Given the description of an element on the screen output the (x, y) to click on. 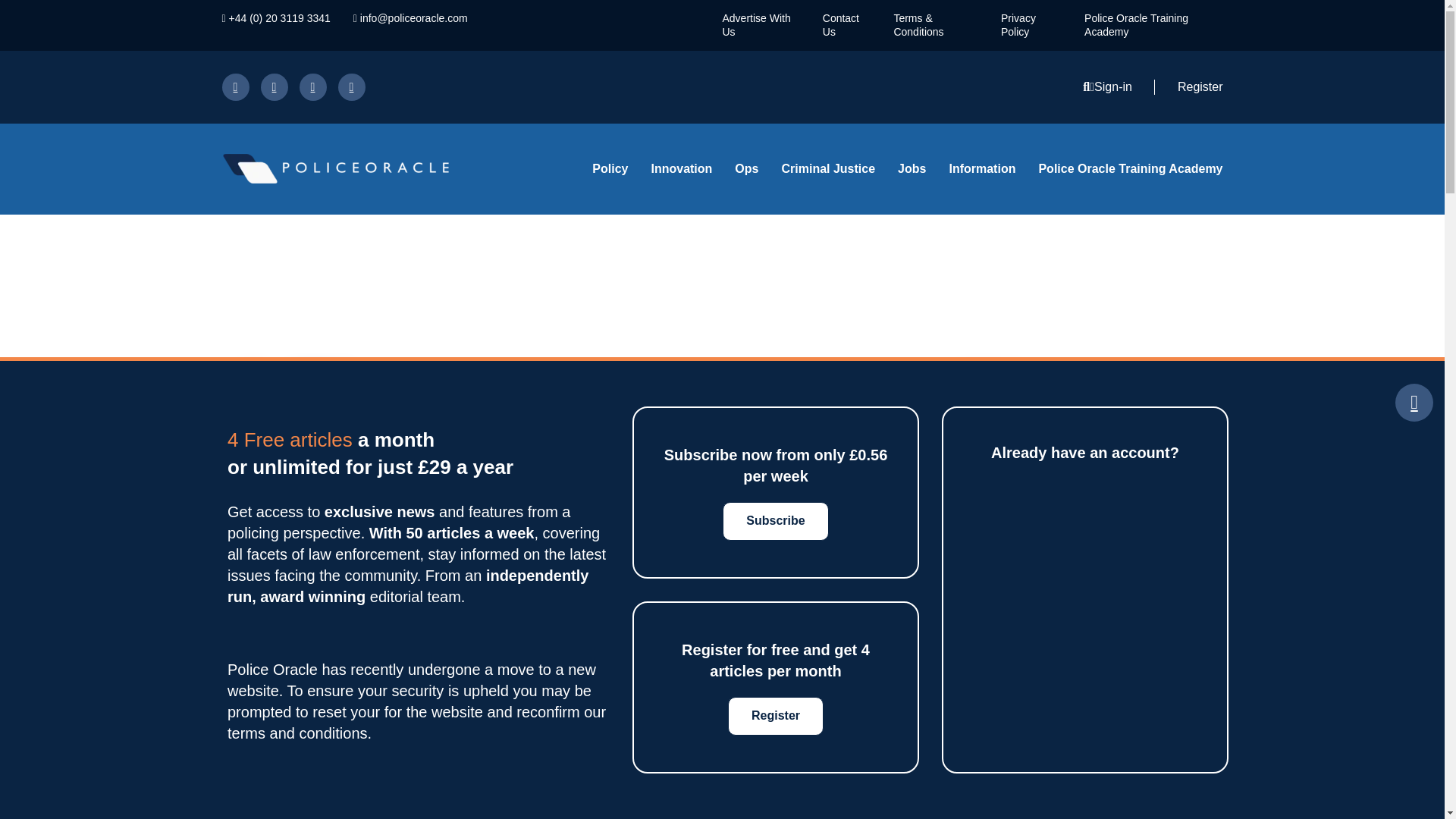
Twitter (274, 86)
Close (1413, 402)
Phone (275, 18)
Facebook (234, 86)
Police Oracle Training Academy (1136, 24)
Contact Us (840, 24)
Email (351, 86)
Advertise With Us (756, 24)
Register (1194, 87)
Privacy Policy (1018, 24)
E-mail (410, 18)
Home (372, 168)
Phone (312, 86)
Criminal Justice (827, 168)
Sign-in (1115, 87)
